Given the description of an element on the screen output the (x, y) to click on. 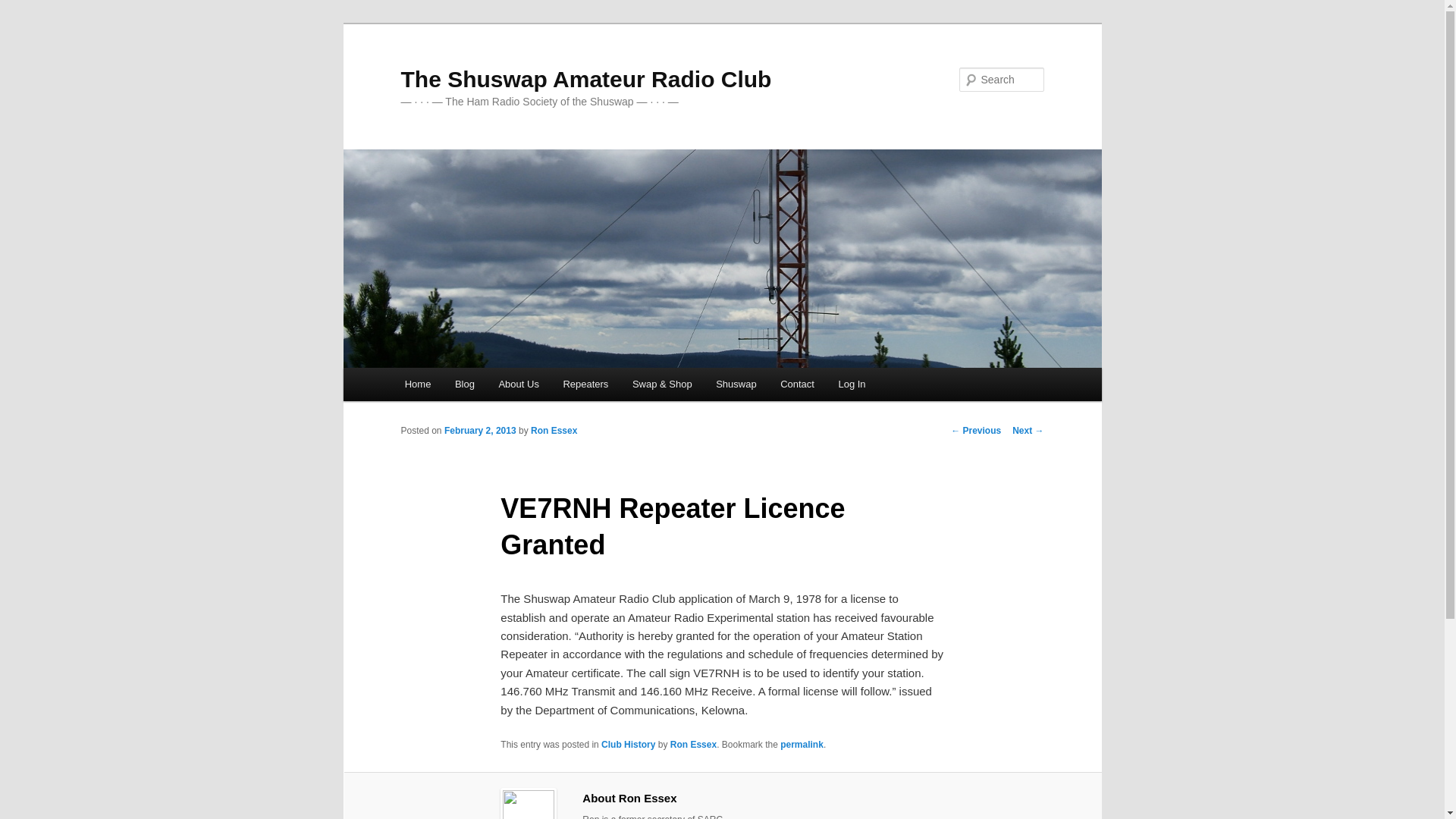
2:24 am (480, 430)
Search (24, 8)
The Shuswap Amateur Radio Club (585, 78)
View all posts by Ron Essex (553, 430)
Repeaters (585, 383)
Permalink to VE7RNH Repeater Licence Granted (802, 744)
Log In (852, 383)
Contact (796, 383)
Home (417, 383)
